Given the description of an element on the screen output the (x, y) to click on. 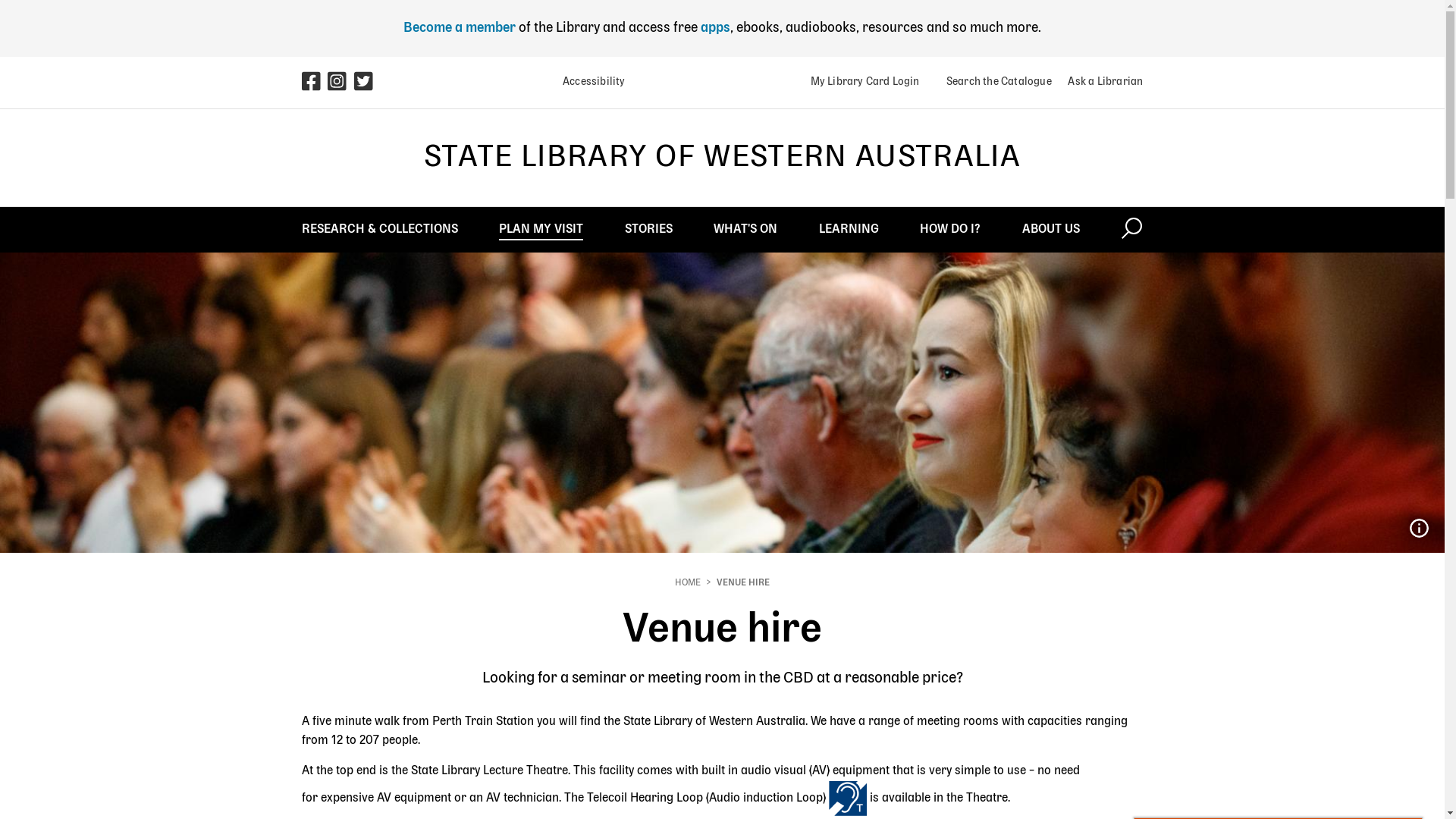
Become a member Element type: text (459, 27)
Ask a Librarian Element type: text (1098, 82)
LEARNING Element type: text (848, 228)
Skip to main content Element type: text (0, 0)
HOW DO I? Element type: text (949, 228)
Twitter Element type: text (367, 82)
STORIES Element type: text (648, 228)
Facebook Element type: hover (311, 86)
Accessibility Element type: text (588, 82)
PLAN MY VISIT Element type: text (540, 228)
Search the Catalogue Element type: text (993, 82)
HOME Element type: text (687, 582)
Instagram Element type: hover (337, 86)
apps Element type: text (715, 27)
My Library Card Login Element type: text (864, 82)
128 Disrupted Festival 2019_Library Theatre audience_crowd Element type: text (1418, 528)
ABOUT US Element type: text (1050, 228)
WHAT'S ON Element type: text (745, 228)
Twitter Element type: hover (364, 86)
RESEARCH & COLLECTIONS Element type: text (379, 228)
STATE LIBRARY OF WESTERN AUSTRALIA Element type: text (721, 157)
Search Element type: text (1131, 228)
Facebook Element type: text (314, 82)
Instagram Element type: text (340, 82)
